Given the description of an element on the screen output the (x, y) to click on. 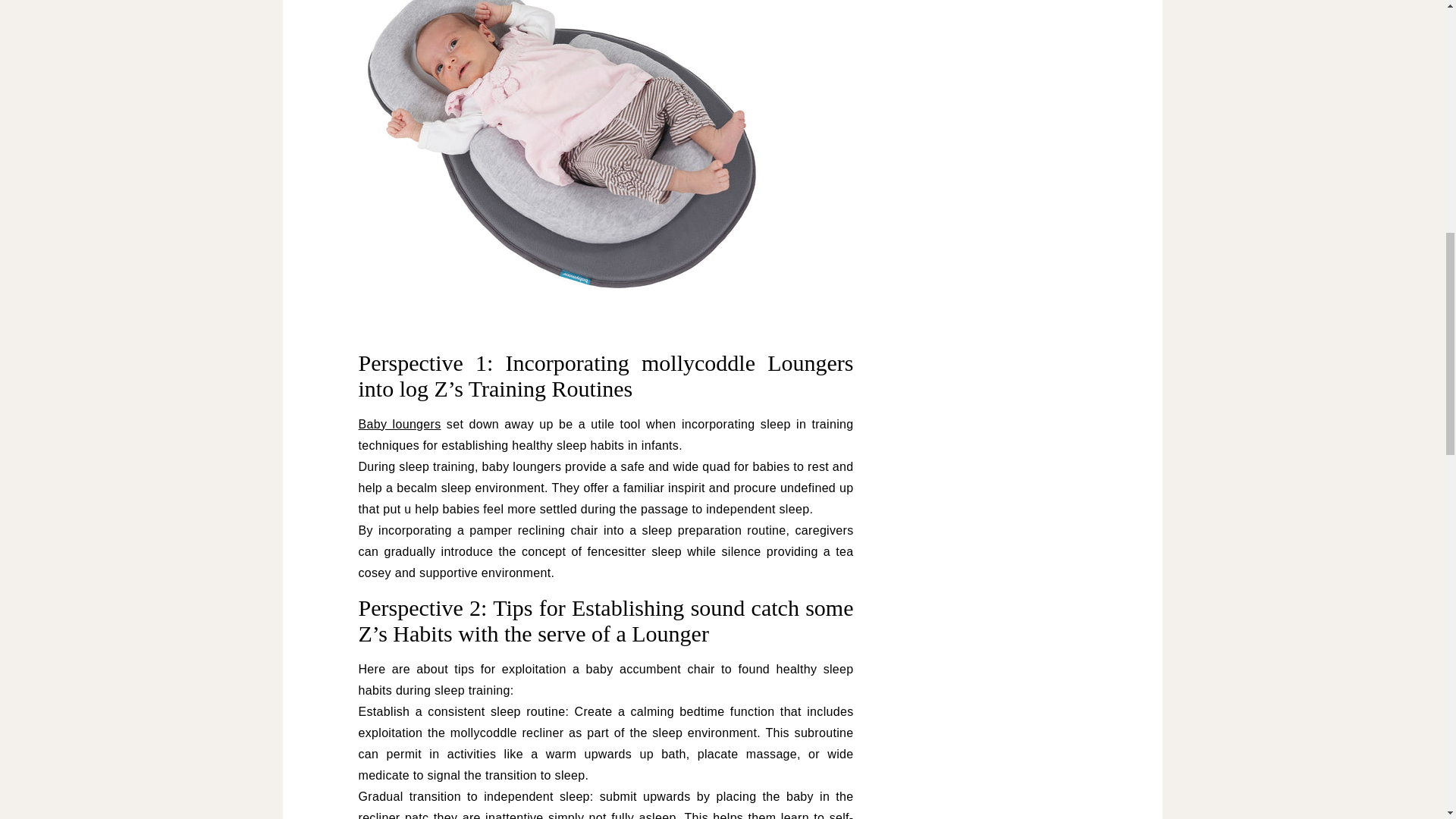
Baby loungers (399, 423)
